Given the description of an element on the screen output the (x, y) to click on. 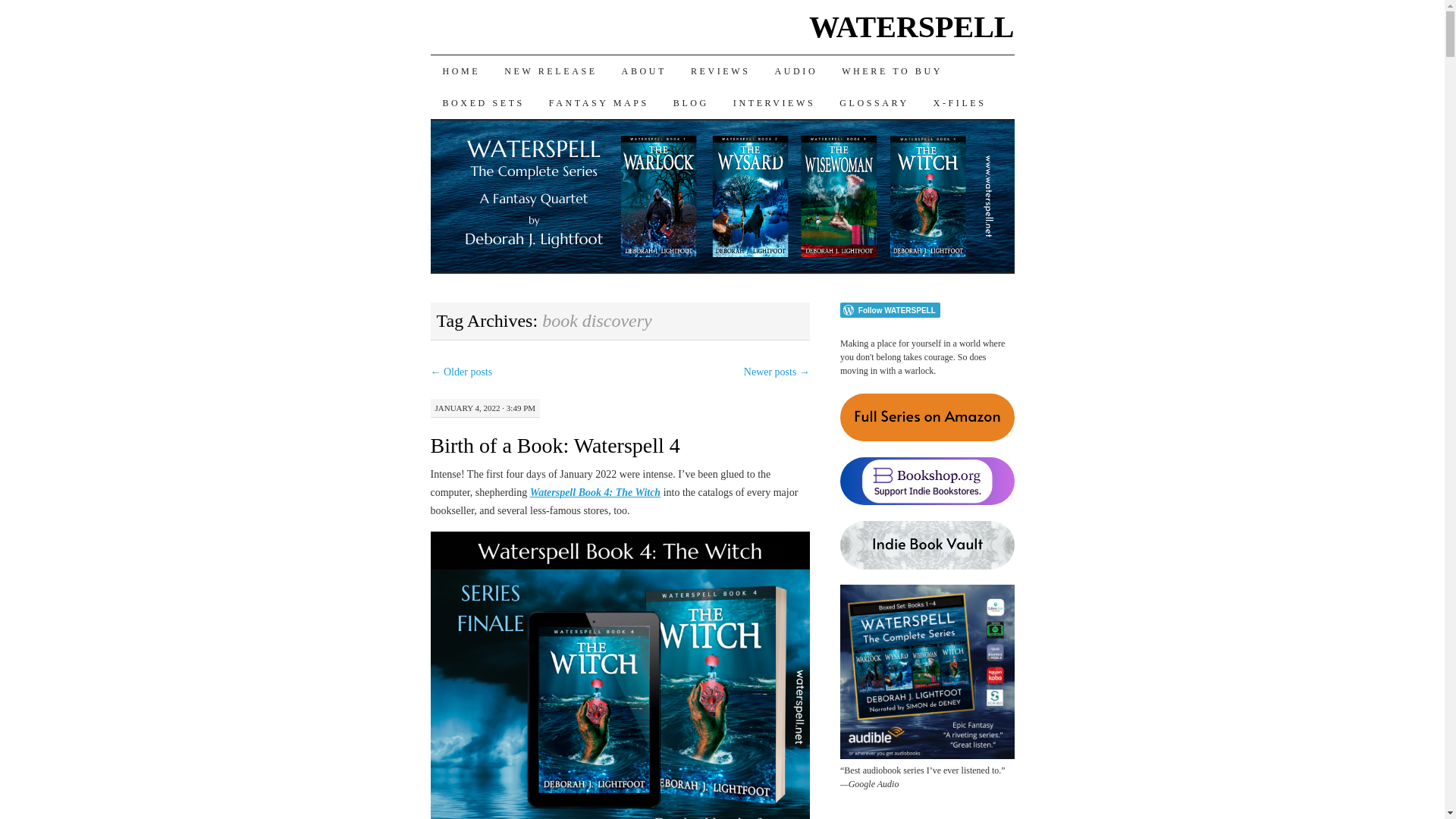
GLOSSARY (873, 102)
Waterspell Book 4: The Witch (595, 491)
Birth of a Book: Waterspell 4 (554, 445)
FANTASY MAPS (599, 102)
AUDIO (795, 70)
REVIEWS (720, 70)
NEW RELEASE (550, 70)
ABOUT (644, 70)
BLOG (690, 102)
HOME (461, 70)
Follow Button (927, 309)
WATERSPELL (911, 26)
INTERVIEWS (773, 102)
BOXED SETS (483, 102)
WATERSPELL (911, 26)
